Given the description of an element on the screen output the (x, y) to click on. 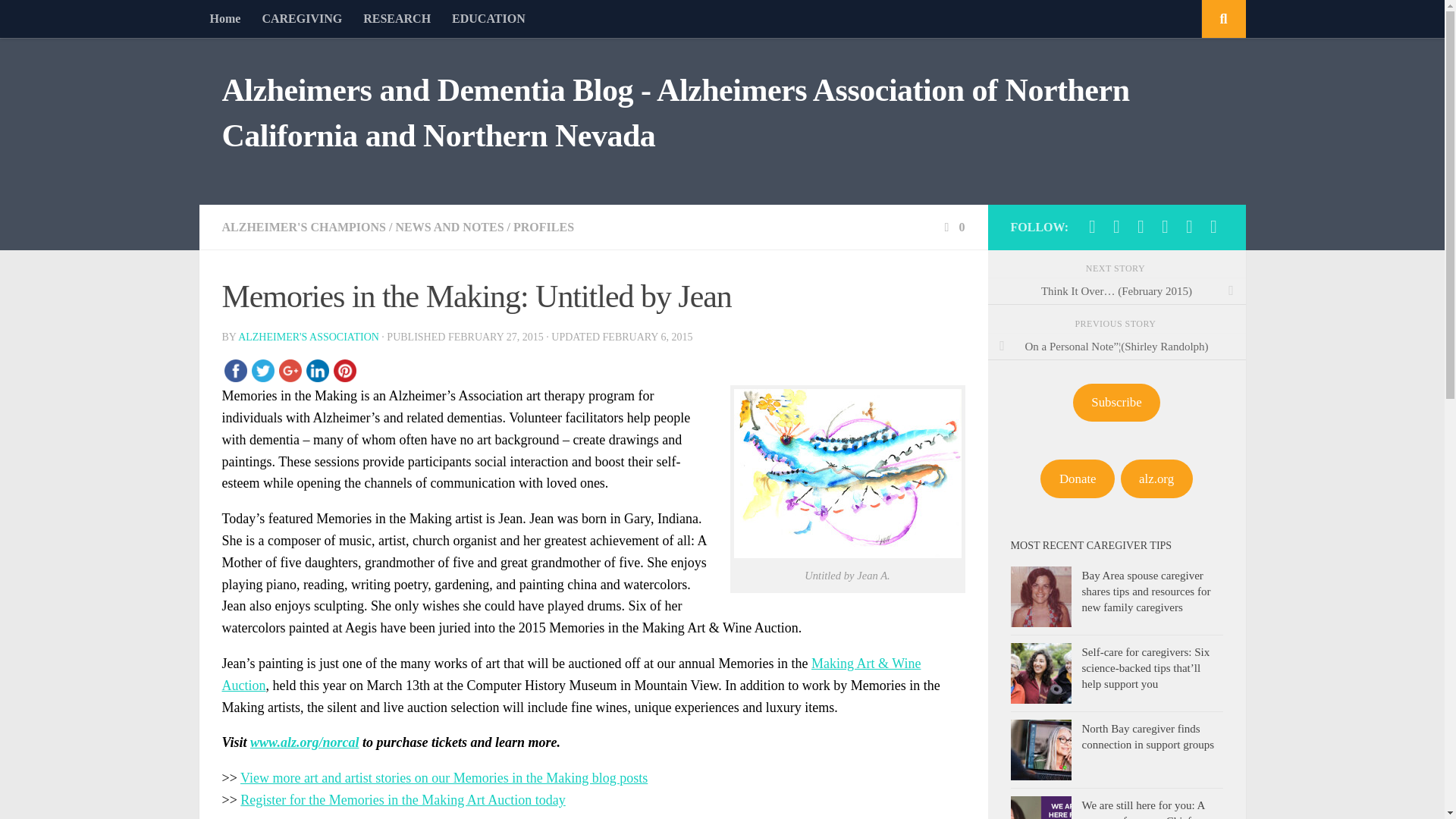
facebook (234, 370)
Register for the Memories in the Making Art Auction today (402, 799)
0 (951, 226)
PROFILES (543, 226)
Home (224, 18)
google (289, 370)
CAREGIVING (301, 18)
ALZHEIMER'S ASSOCIATION (308, 337)
Skip to content (59, 20)
EDUCATION (488, 18)
pinterest (344, 370)
RESEARCH (396, 18)
ALZHEIMER'S CHAMPIONS (303, 226)
twitter (262, 370)
